Given the description of an element on the screen output the (x, y) to click on. 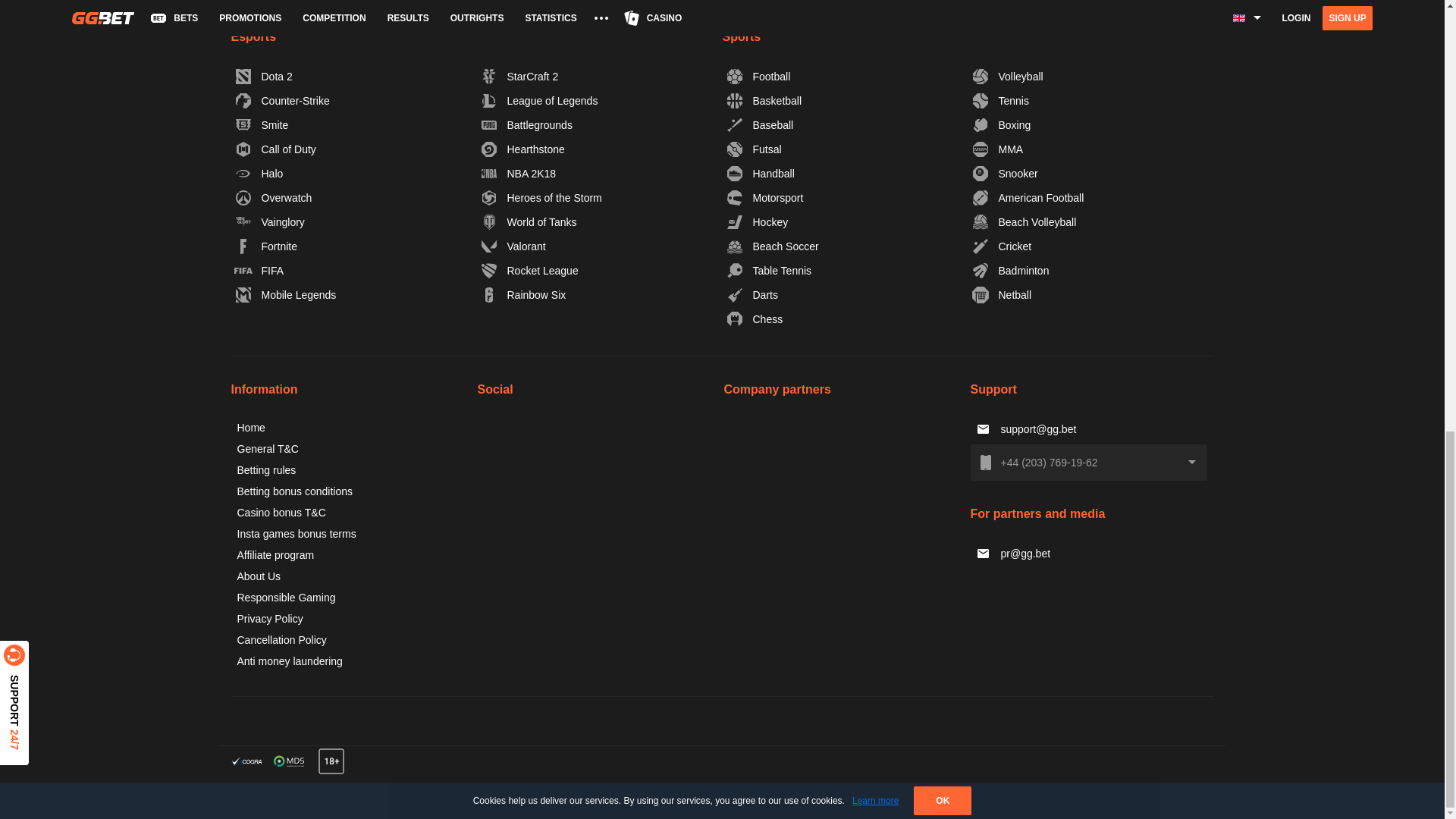
Valorant (513, 246)
League of Legends (540, 100)
Hearthstone (523, 149)
Halo (259, 173)
Call of Duty (275, 149)
Fortnite (266, 246)
Counter-Strike (282, 100)
Vainglory (270, 221)
Heroes of the Storm (541, 197)
Smite (262, 125)
StarCraft 2 (520, 76)
NBA 2K18 (519, 173)
Overwatch (273, 197)
Dota 2 (264, 76)
Battlegrounds (527, 125)
